Given the description of an element on the screen output the (x, y) to click on. 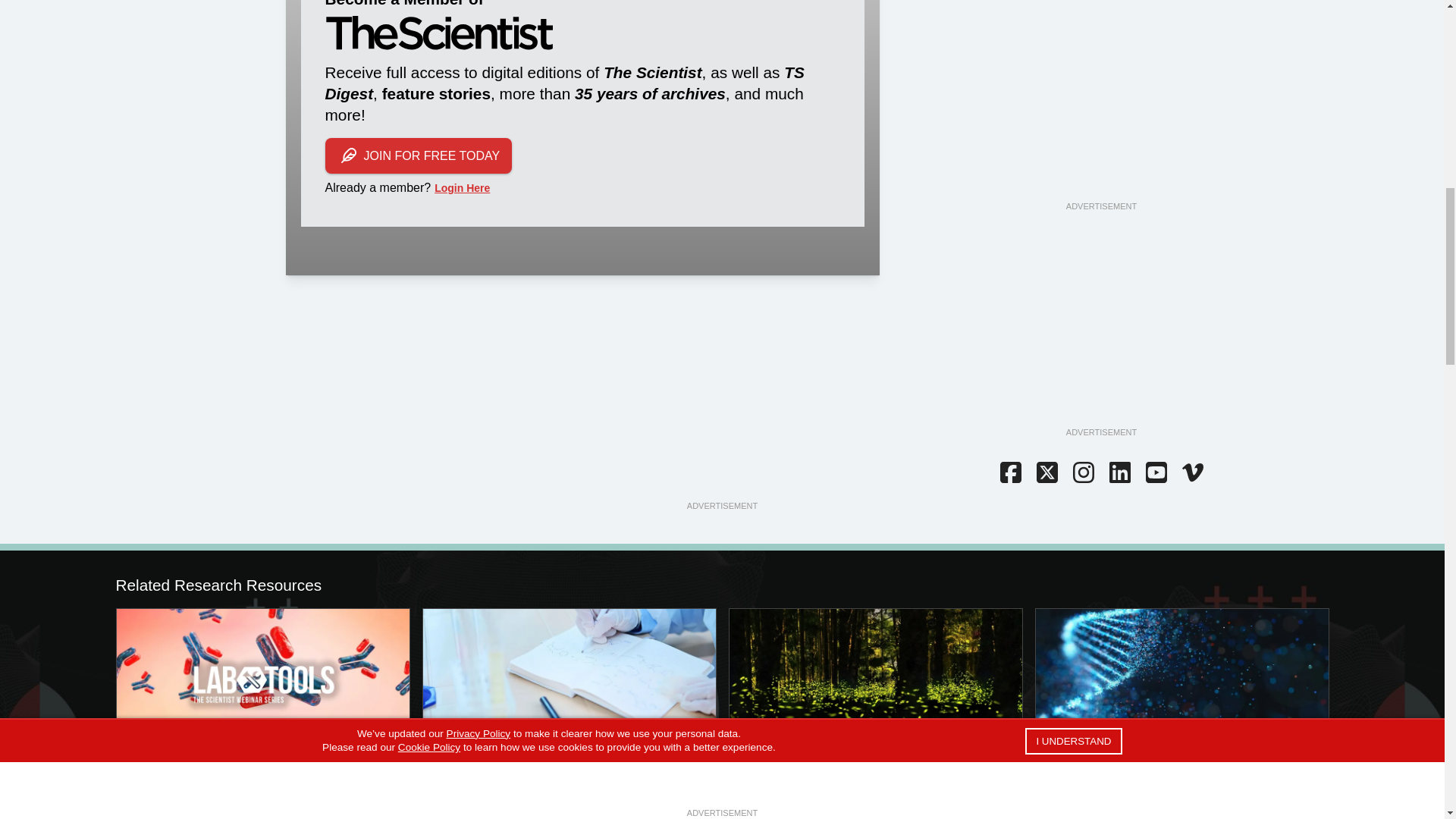
3rd party ad content (1100, 104)
Facebook (1009, 473)
YouTube (1155, 473)
Instagram (1082, 473)
Boosting the Efficiency of Therapeutic Antibody Development (262, 675)
Vimeo (1191, 473)
3rd party ad content (1100, 330)
LinkedIn (1118, 473)
Twitter (1045, 473)
